Given the description of an element on the screen output the (x, y) to click on. 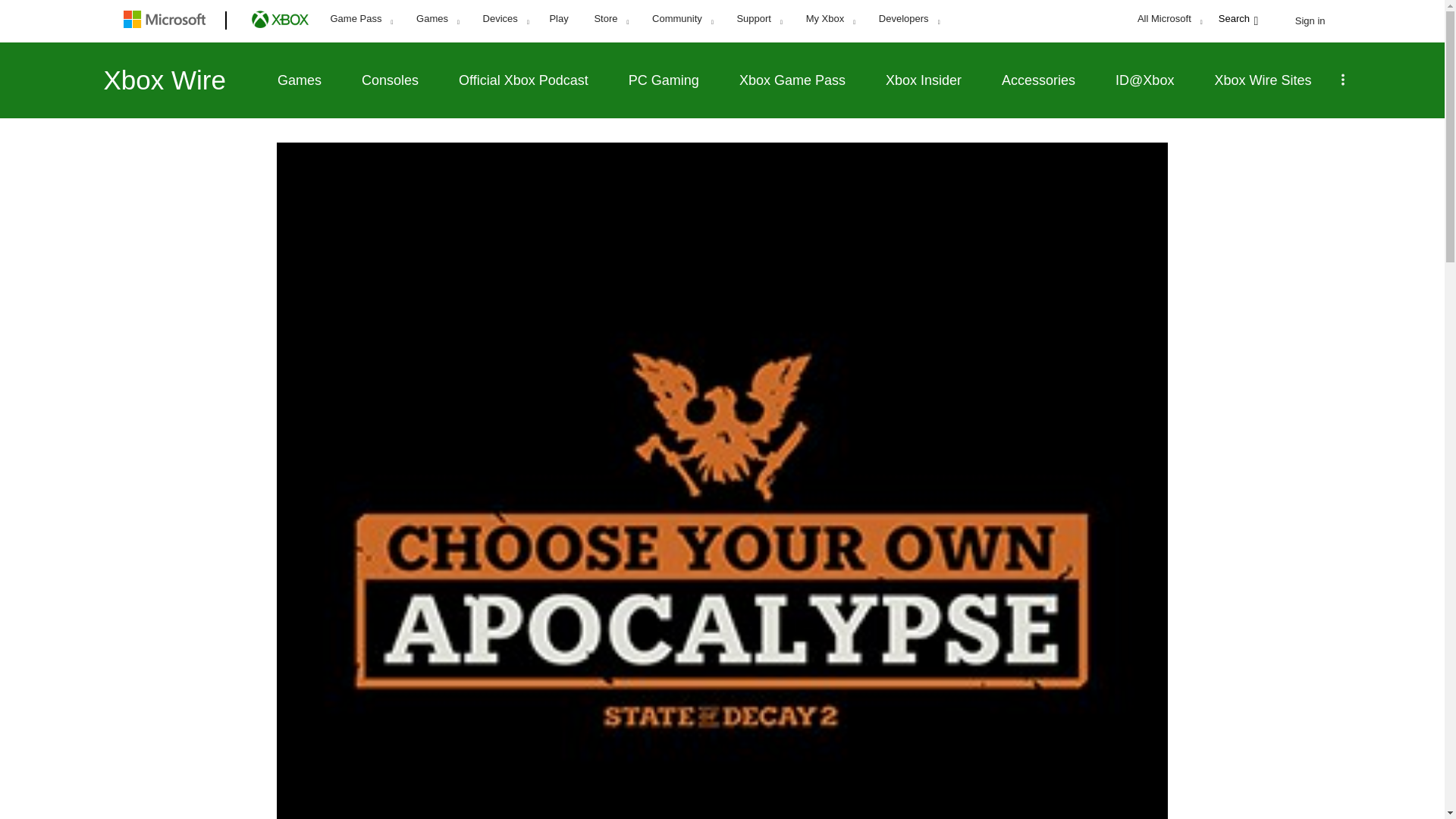
Game Pass (360, 18)
Microsoft (167, 20)
Games (437, 18)
Devices (505, 18)
